Given the description of an element on the screen output the (x, y) to click on. 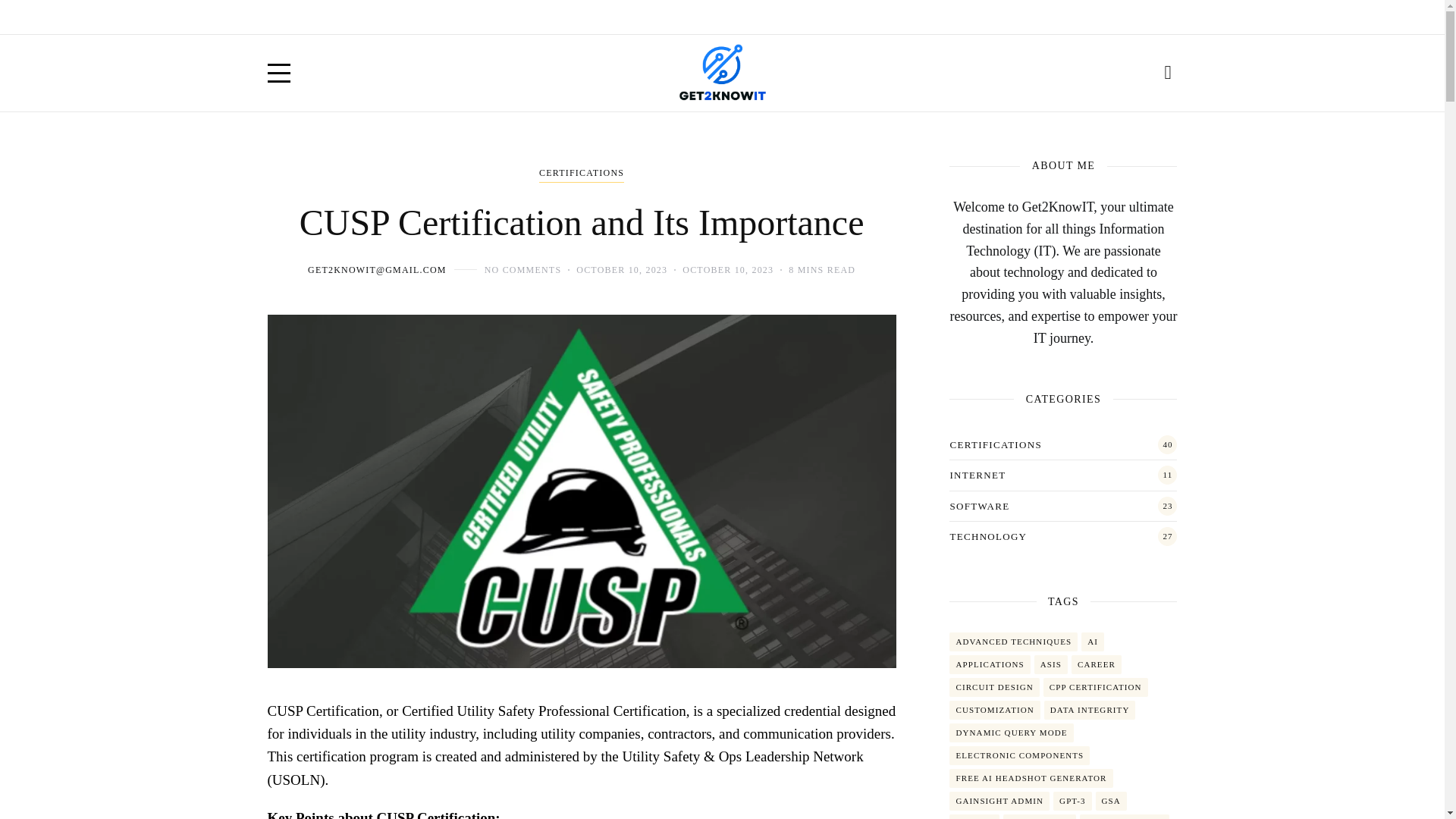
HOME (282, 17)
Categories (581, 174)
Logo (722, 73)
YouTube (1135, 16)
CERTIFICATIONS (581, 174)
Pinterest (1169, 16)
NO COMMENTS (523, 269)
Twitter (1102, 16)
Facebook (1069, 16)
CONTACT US (416, 17)
ABOUT US (340, 17)
